Given the description of an element on the screen output the (x, y) to click on. 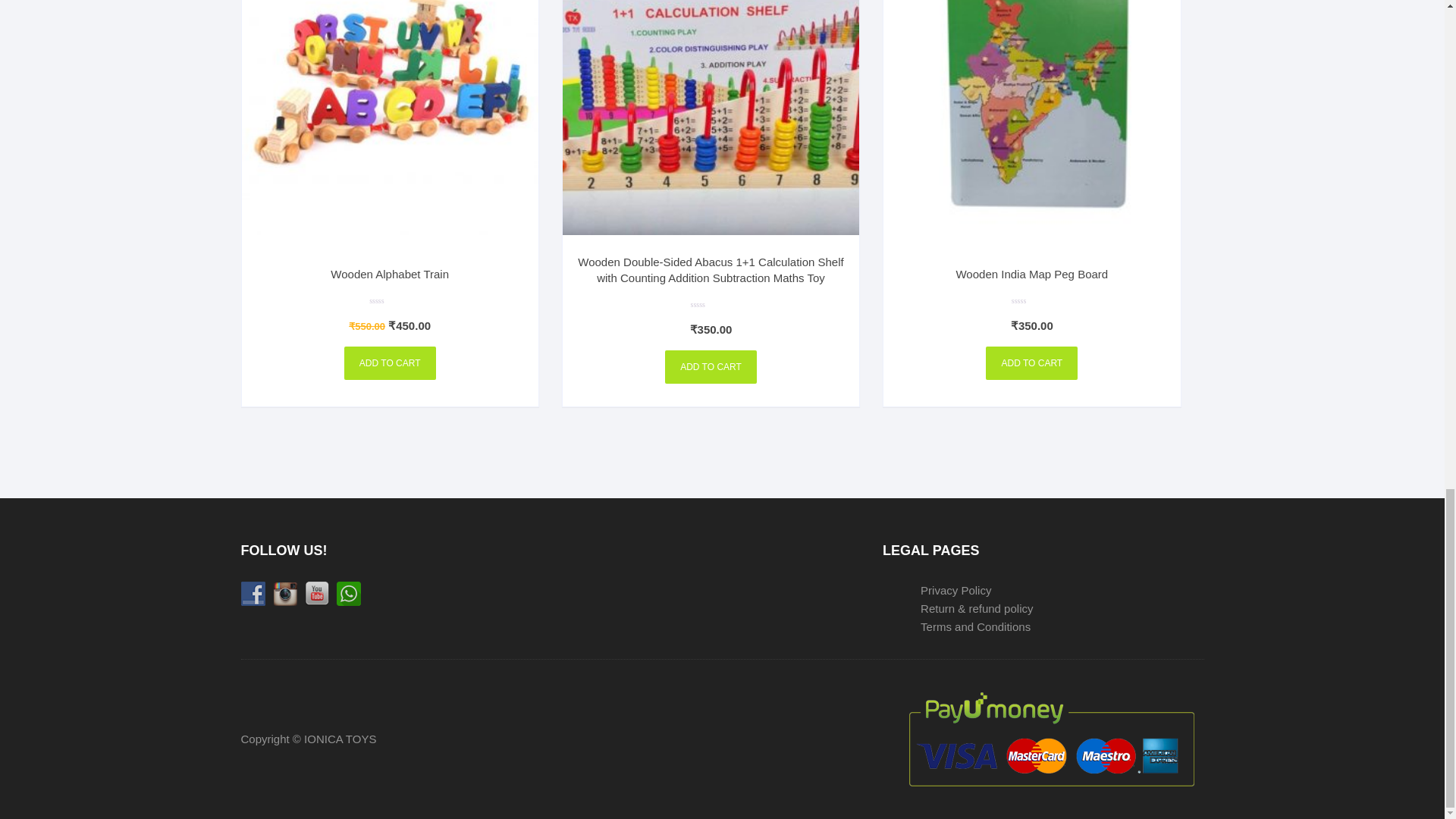
Follow Us on  YouTube (316, 593)
Follow Us on  Facebook (252, 593)
Follow Us on  whats app (348, 593)
Follow Us on  Instagram (285, 593)
